Given the description of an element on the screen output the (x, y) to click on. 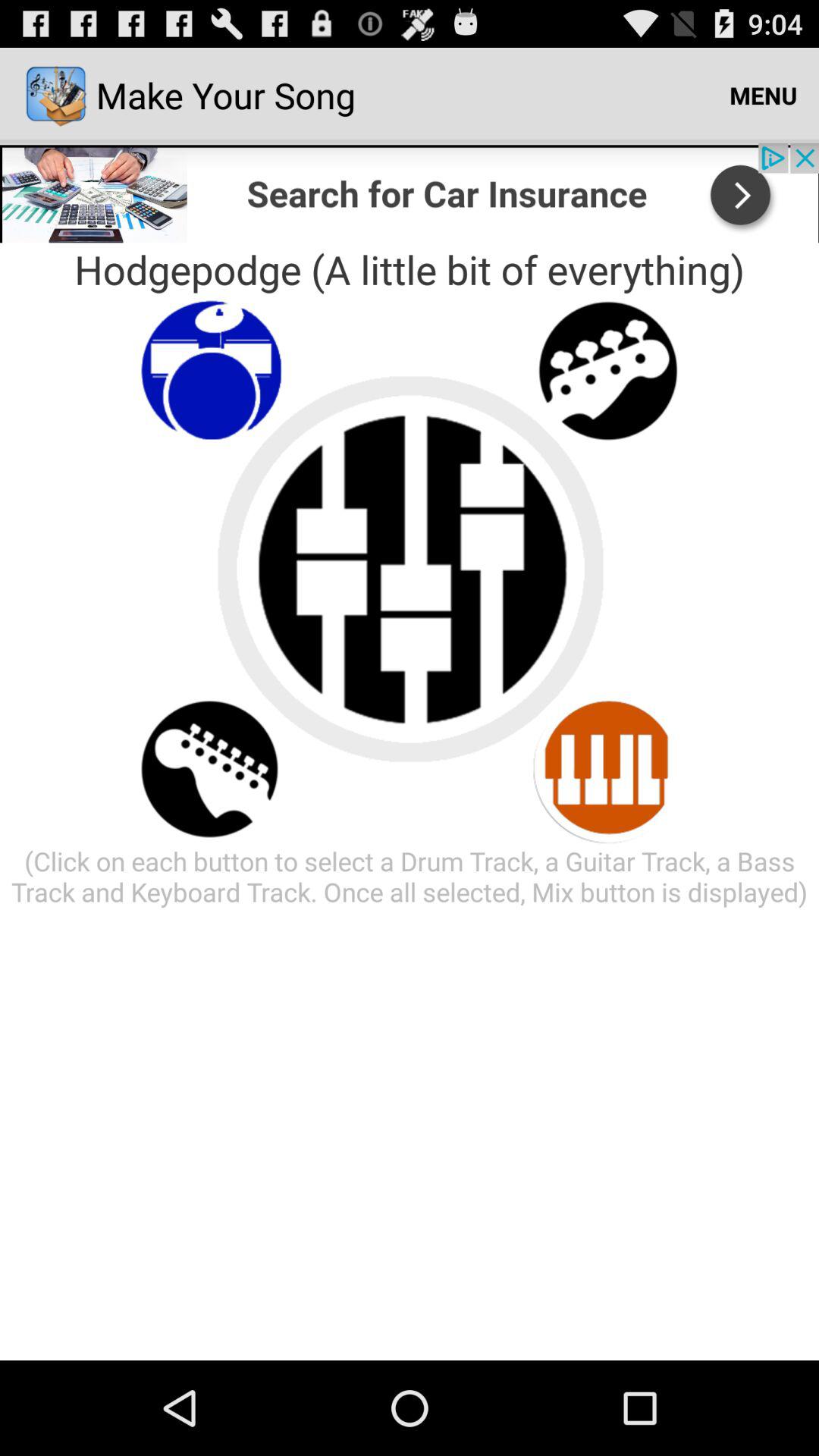
select keyboard traxk (608, 768)
